Given the description of an element on the screen output the (x, y) to click on. 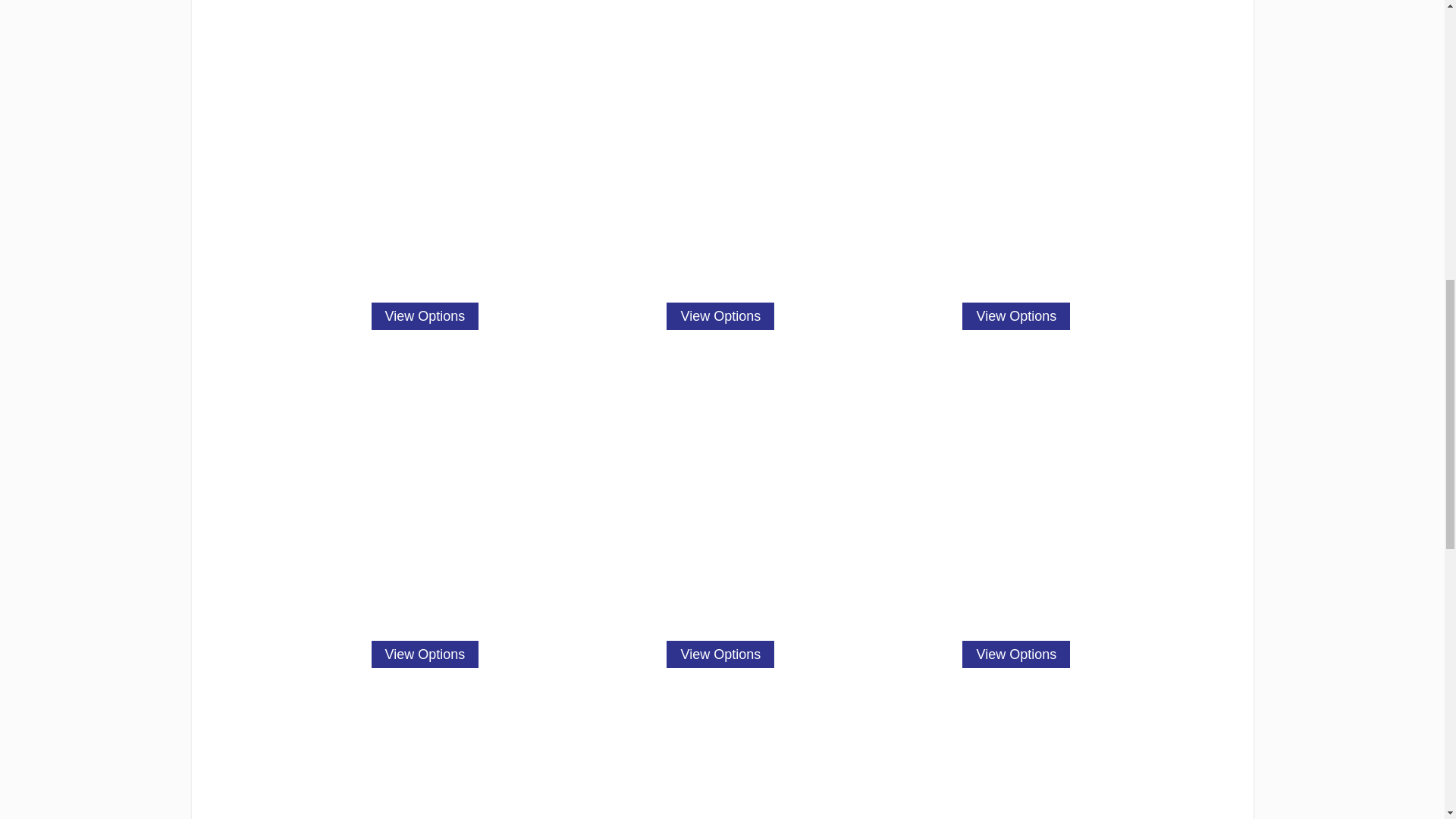
View Options (720, 316)
View Options (425, 316)
View Options (720, 654)
View Options (425, 654)
